Given the description of an element on the screen output the (x, y) to click on. 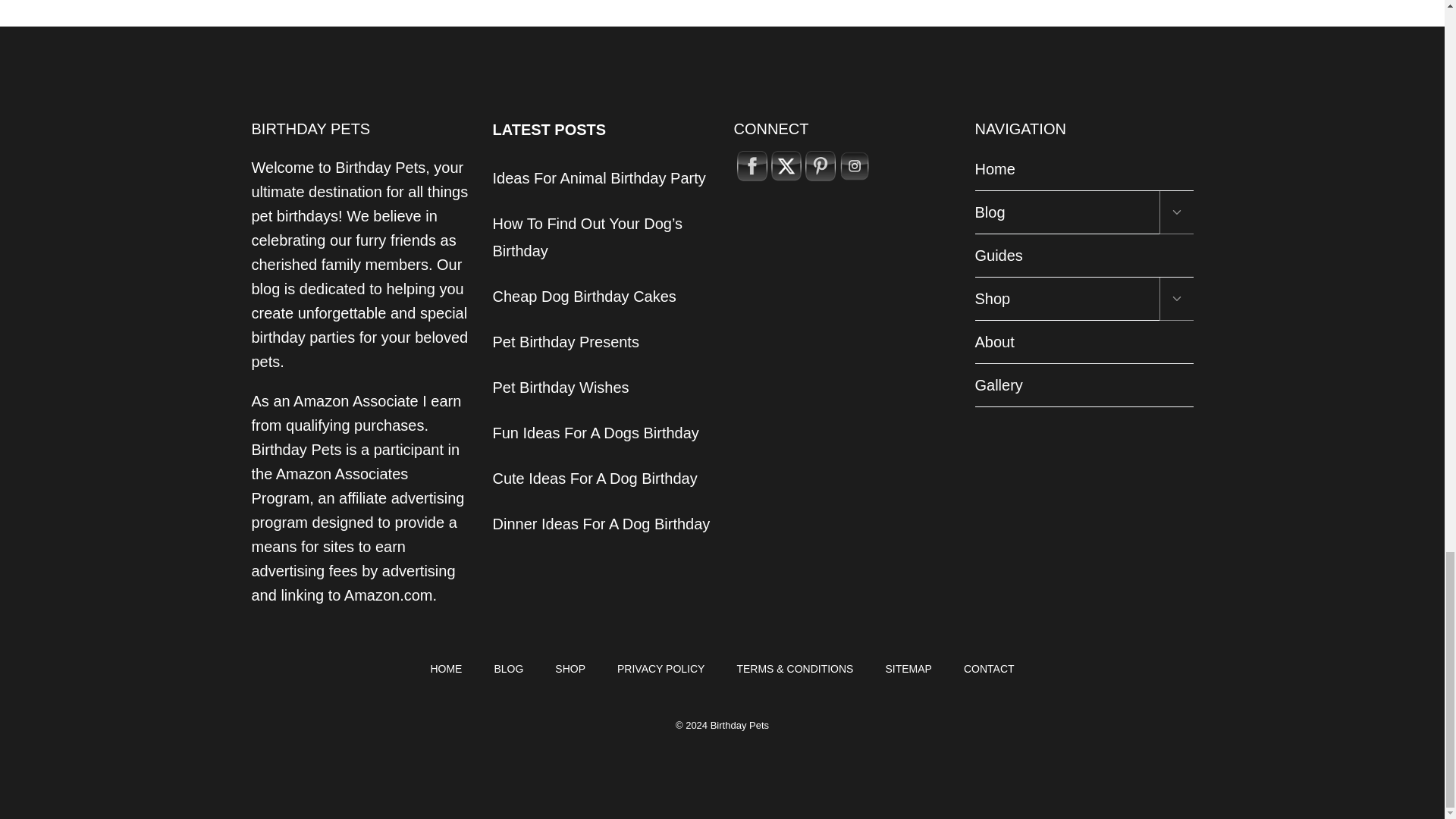
Pinterest (820, 165)
Twitter (785, 165)
Facebook (751, 165)
